Given the description of an element on the screen output the (x, y) to click on. 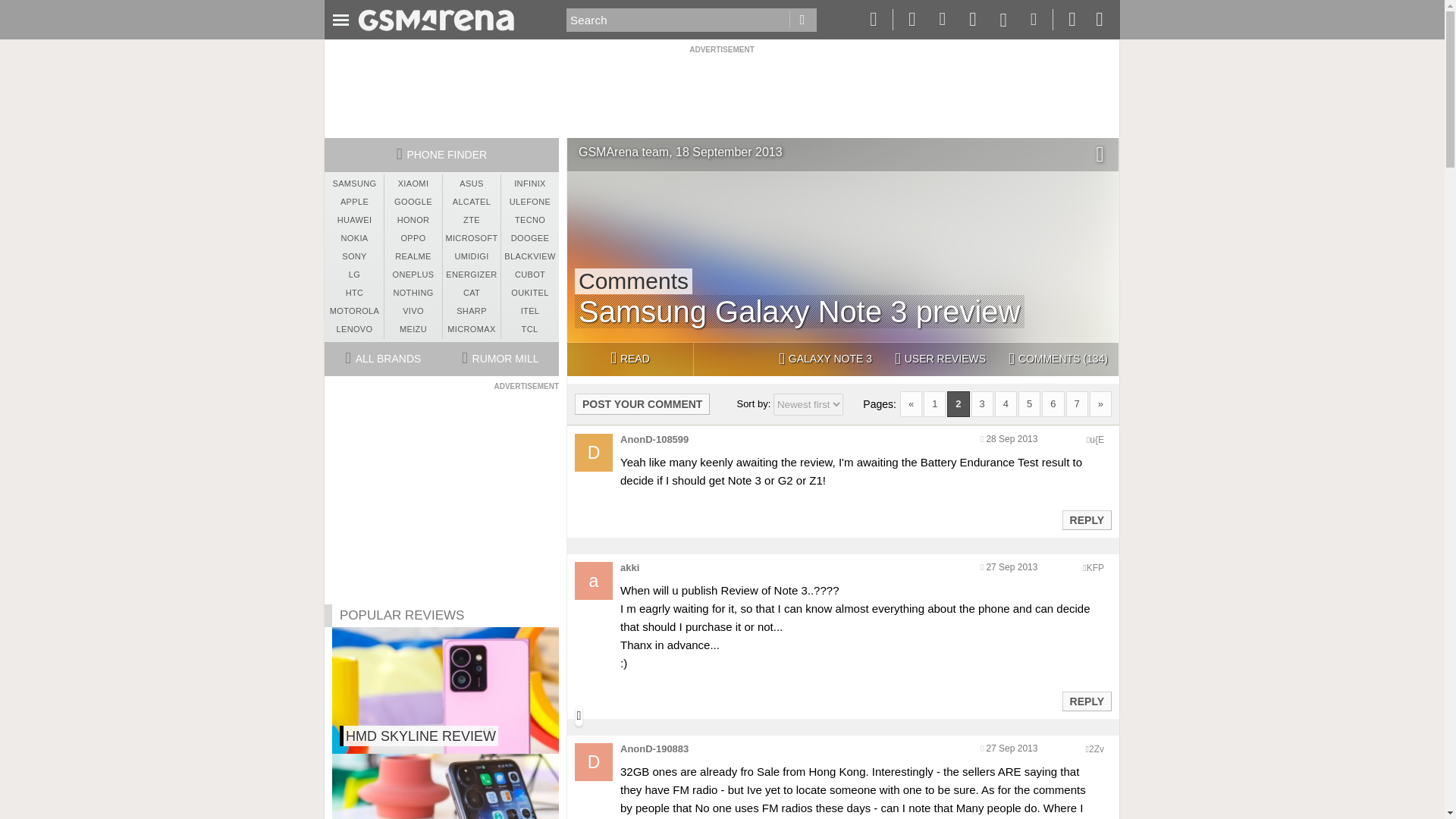
GALAXY NOTE 3 (825, 359)
Sort comments by (808, 404)
Reply to this post (1086, 701)
POST YOUR COMMENT (642, 403)
Encoded anonymized location (1096, 748)
Encoded anonymized location (1096, 439)
READ (630, 359)
Reply to this post (1086, 520)
Encoded anonymized location (1094, 567)
Go (802, 19)
